Given the description of an element on the screen output the (x, y) to click on. 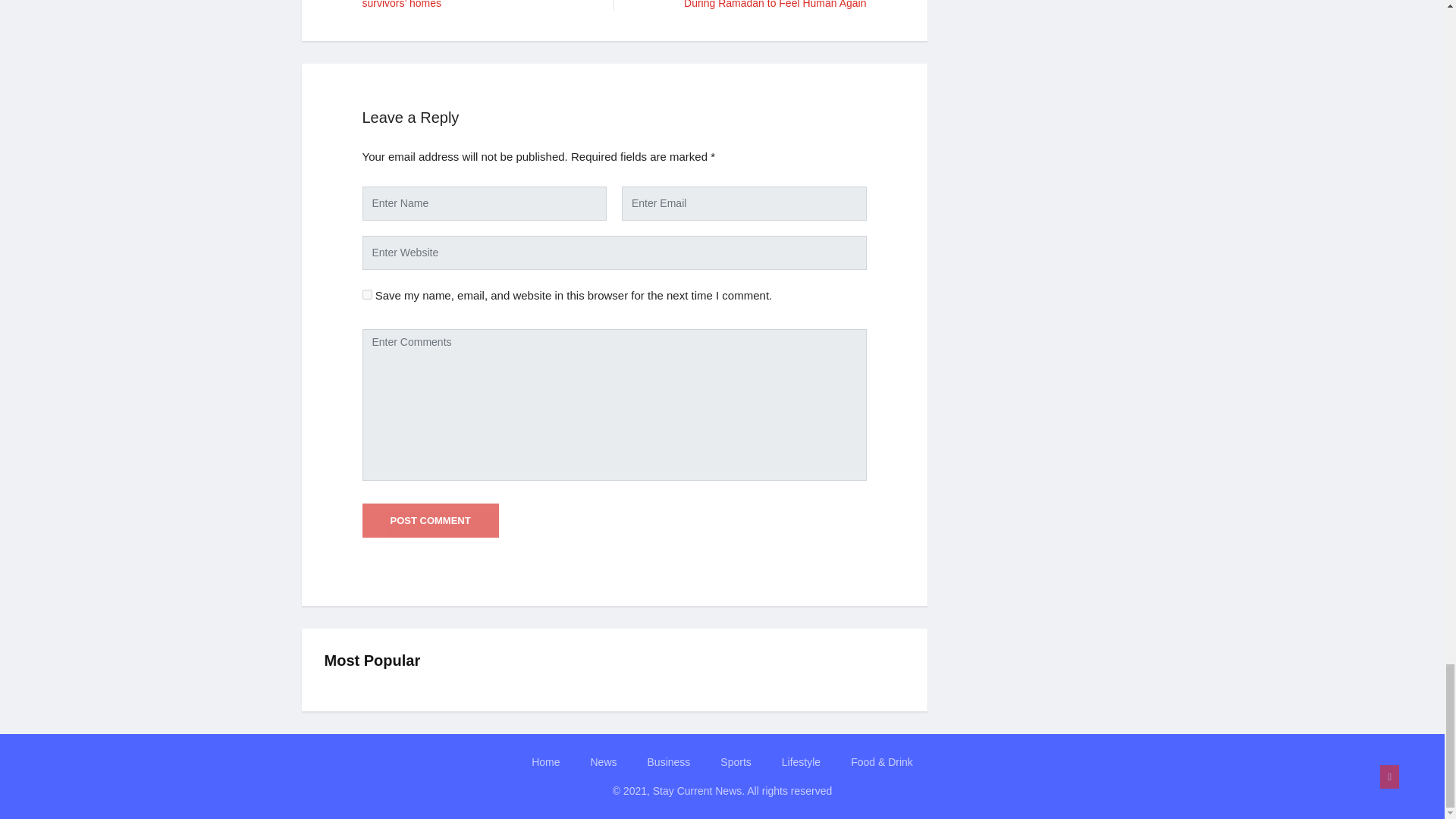
yes (367, 294)
Post Comment (430, 520)
Post Comment (430, 520)
